Given the description of an element on the screen output the (x, y) to click on. 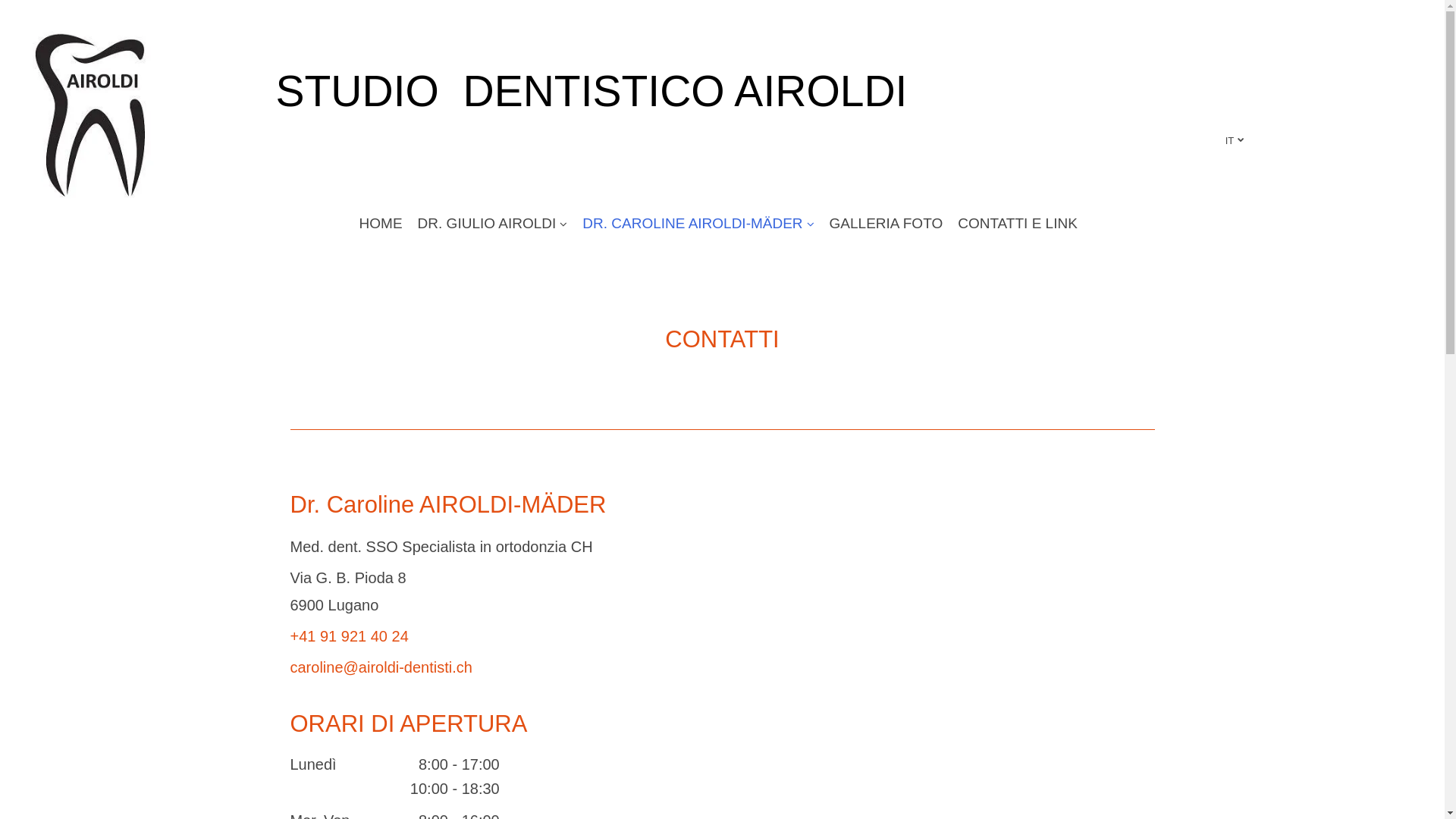
IT Element type: text (1234, 140)
caroline@airoldi-dentisti.ch Element type: text (380, 666)
+41 91 921 40 24 Element type: text (348, 635)
CONTATTI E LINK Element type: text (1017, 223)
GALLERIA FOTO Element type: text (886, 223)
HOME Element type: text (380, 223)
DR. GIULIO AIROLDI Element type: text (492, 223)
